Given the description of an element on the screen output the (x, y) to click on. 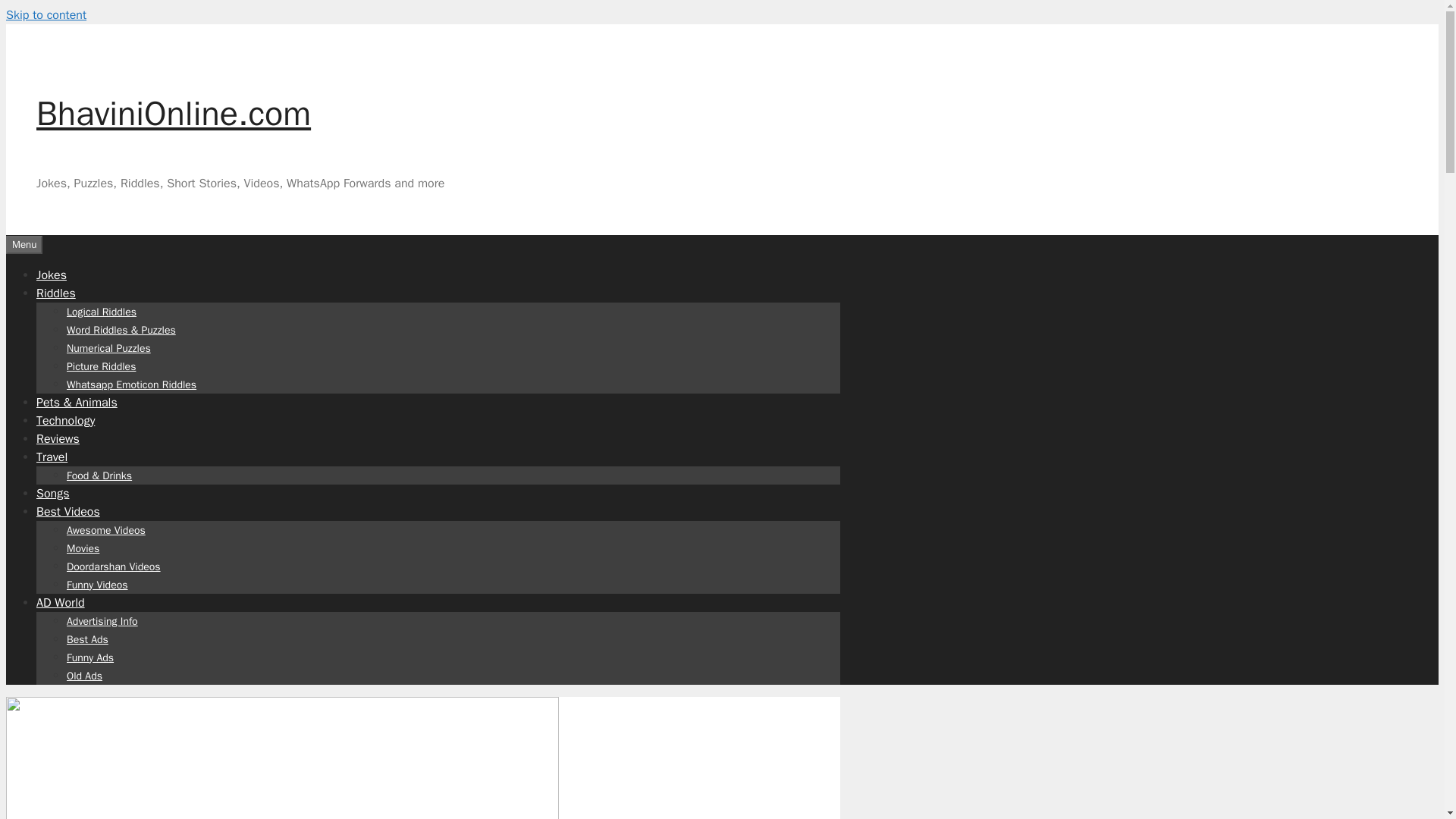
BhaviniOnline.com (173, 113)
Skip to content (45, 14)
Movies (82, 547)
Numerical Puzzles (108, 347)
Whatsapp Emoticon Riddles (131, 383)
Old Ads (83, 675)
Jokes (51, 273)
Funny Ads (89, 656)
Best Ads (86, 638)
AD World (60, 601)
